Given the description of an element on the screen output the (x, y) to click on. 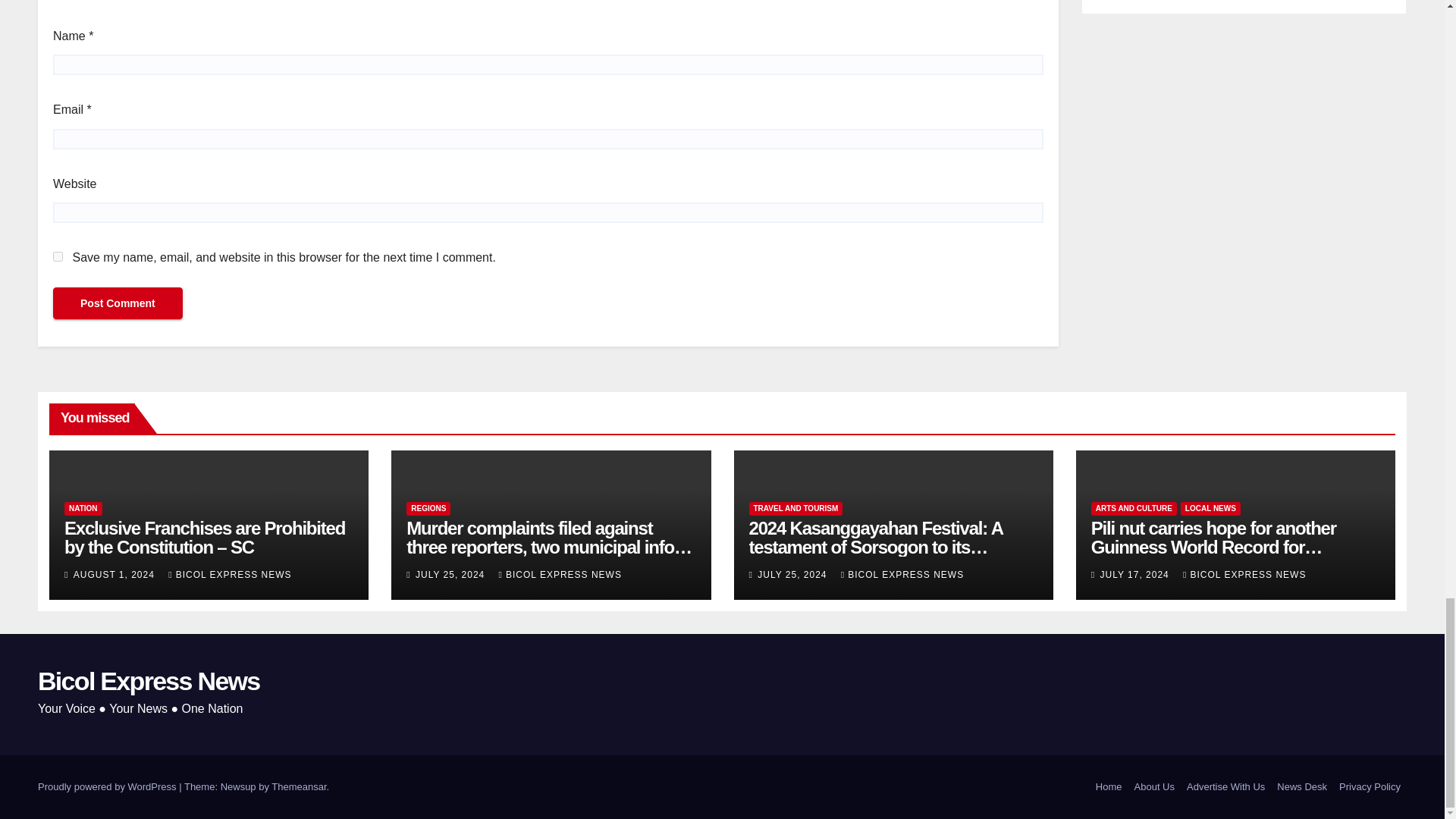
Post Comment (117, 303)
yes (57, 256)
